Given the description of an element on the screen output the (x, y) to click on. 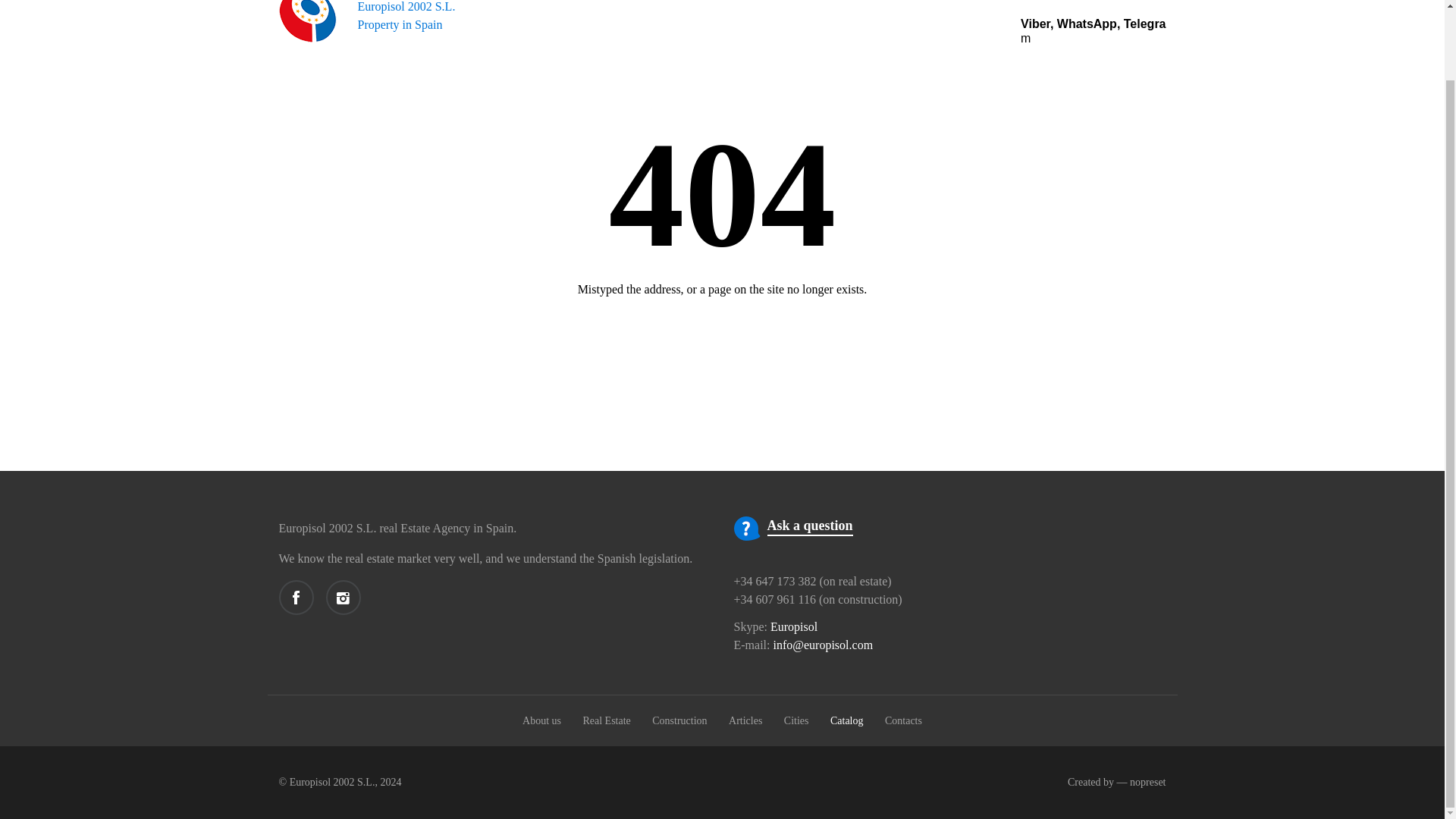
Construction (367, 21)
About us (679, 720)
Europisol (541, 720)
Real Estate (793, 626)
Cities (606, 720)
Ask a question (796, 720)
Articles (810, 526)
